Given the description of an element on the screen output the (x, y) to click on. 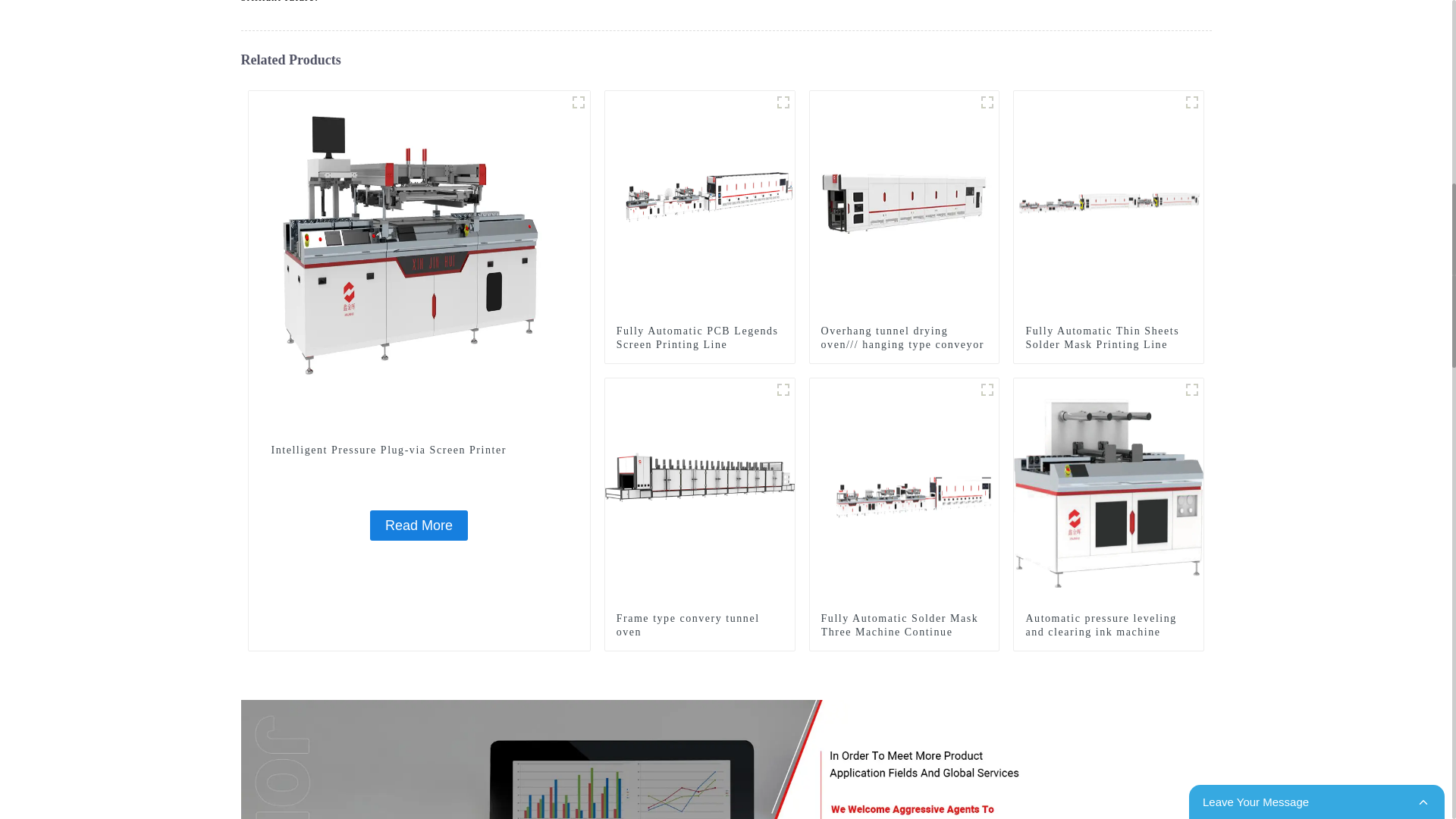
Fully Automatic PCB Legends Screen Printing Line (699, 204)
3 (986, 101)
Intelligent Pressure Plug-via Screen Printer (418, 450)
Read More (418, 525)
Fully Automatic Thin Sheets Solder Mask Printing  Line (1108, 338)
Frame type convery tunnel oven  (699, 491)
Frame type convery tunnel oven (699, 625)
Intelligent  Pressure  Plug-via  Screen  Printer (418, 525)
Fully Automatic Thin Sheets Solder Mask Printing Line (1108, 338)
Fully Automatic Thin Sheets Solder Mask Printing  Line (1108, 204)
